Given the description of an element on the screen output the (x, y) to click on. 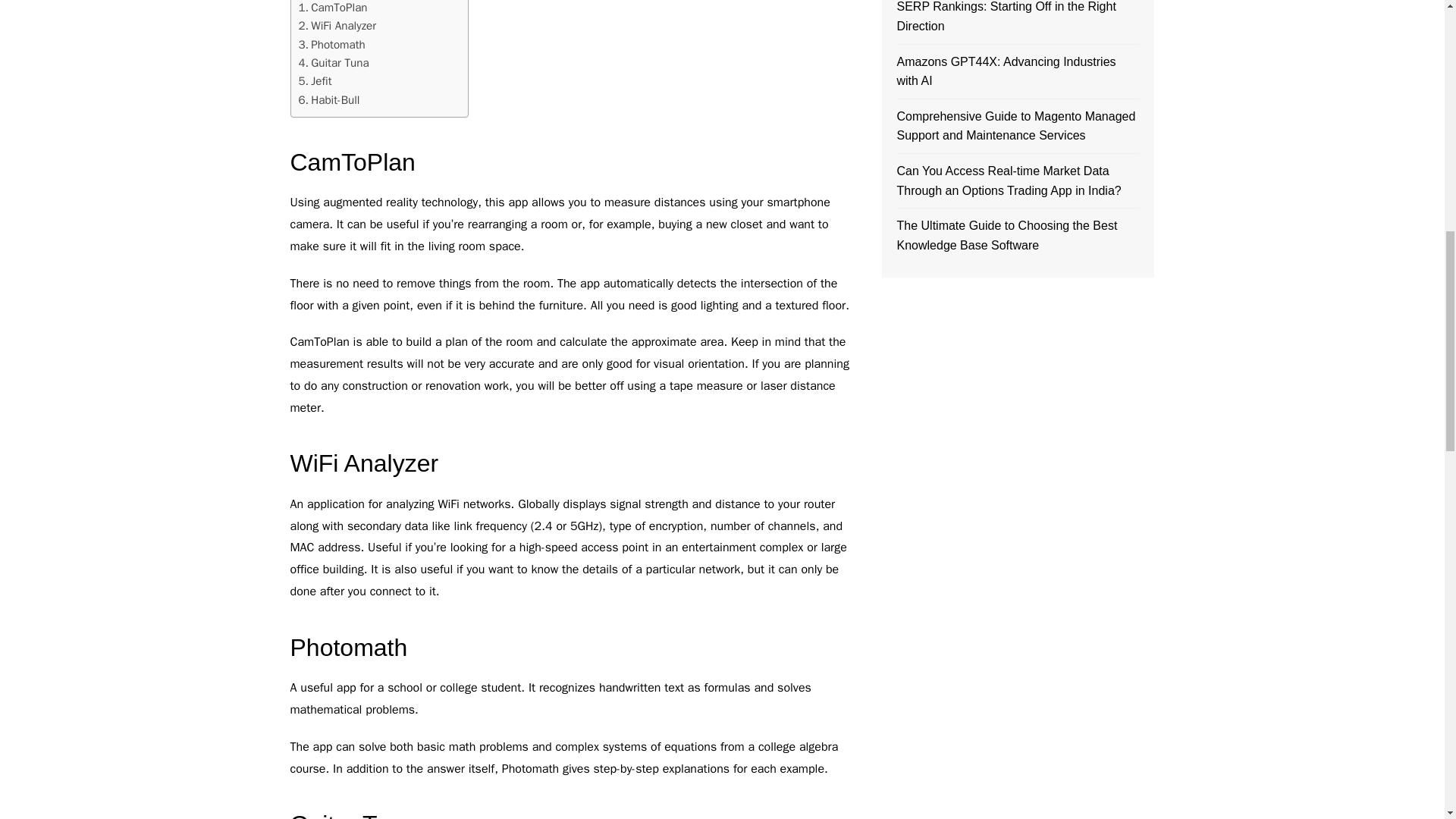
Jefit (314, 81)
Photomath (331, 45)
Habit-Bull (328, 99)
CamToPlan (333, 8)
WiFi Analyzer (337, 25)
Guitar Tuna (333, 63)
